Given the description of an element on the screen output the (x, y) to click on. 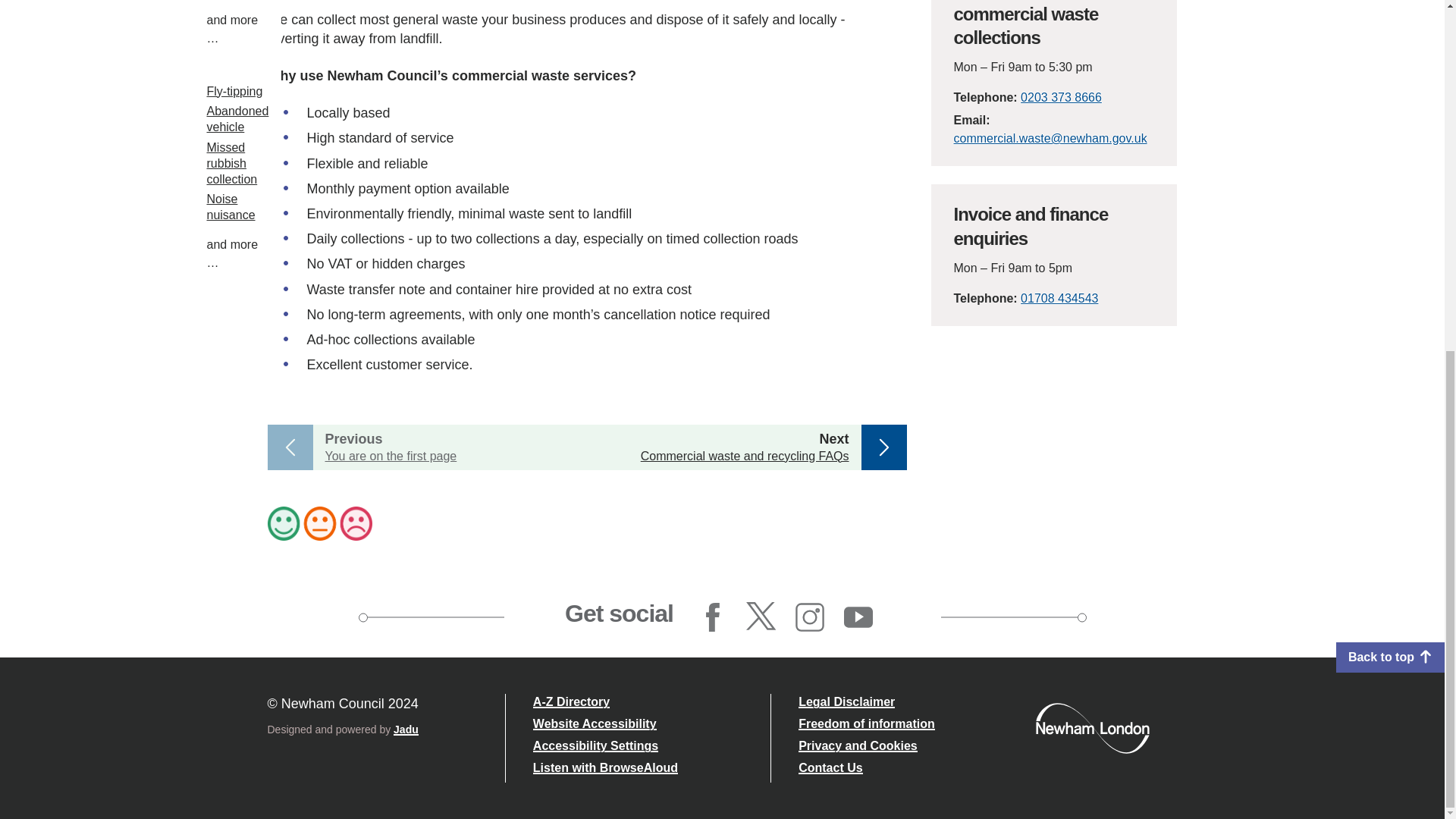
Instagram (810, 617)
Share your feedback (721, 523)
Facebook (712, 617)
You Tube (858, 617)
Newham Council Home Page (1092, 727)
Twitter (761, 617)
